Given the description of an element on the screen output the (x, y) to click on. 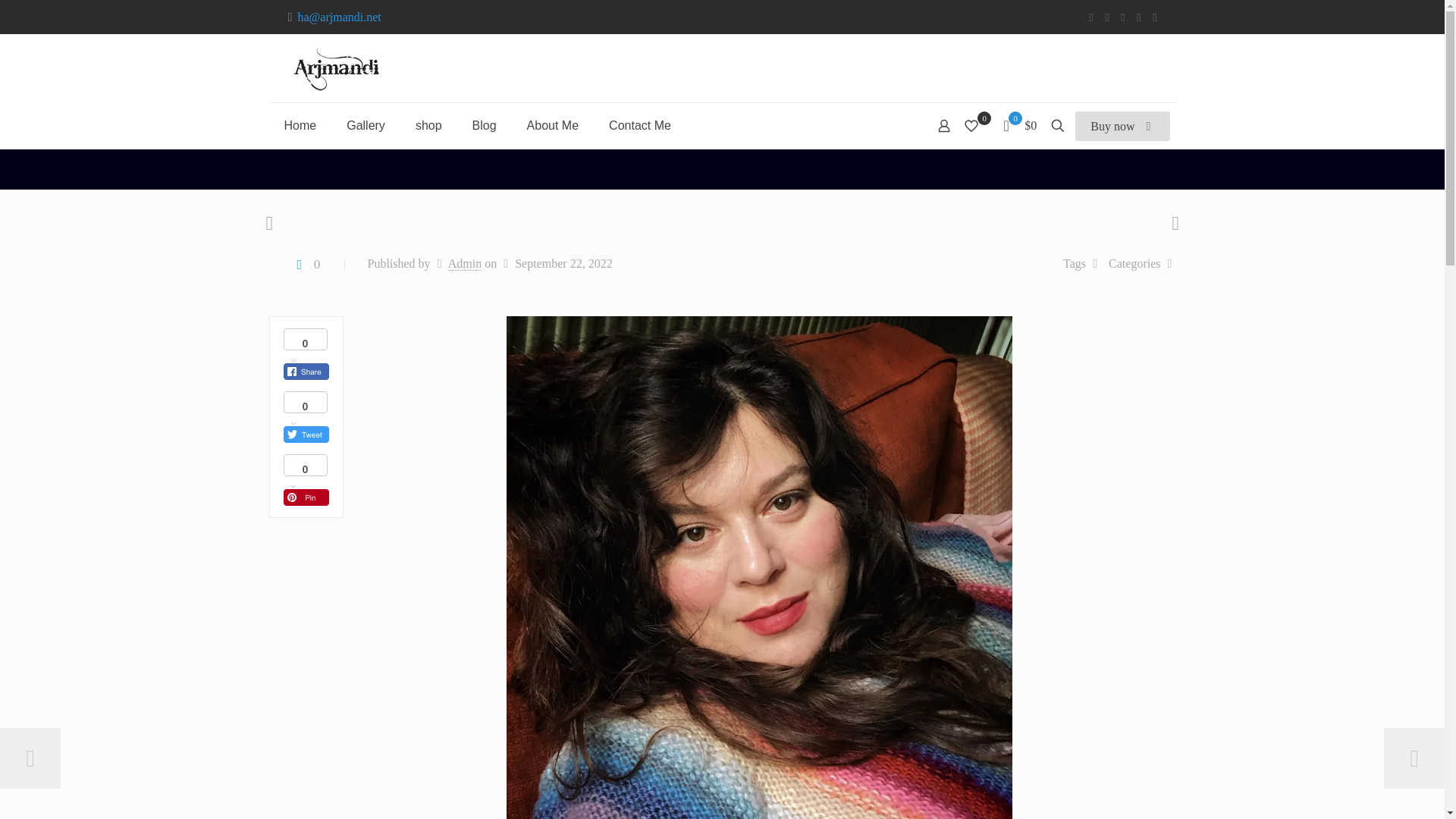
LinkedIn (1123, 17)
shop (428, 125)
Facebook (1091, 17)
Buy now (1122, 125)
Blog (484, 125)
etsy (1155, 17)
Contact Me (639, 125)
Admin (464, 264)
0 (975, 125)
Gallery (365, 125)
Instagram (1138, 17)
Home (299, 125)
0 (306, 264)
YouTube (1106, 17)
About Me (553, 125)
